Given the description of an element on the screen output the (x, y) to click on. 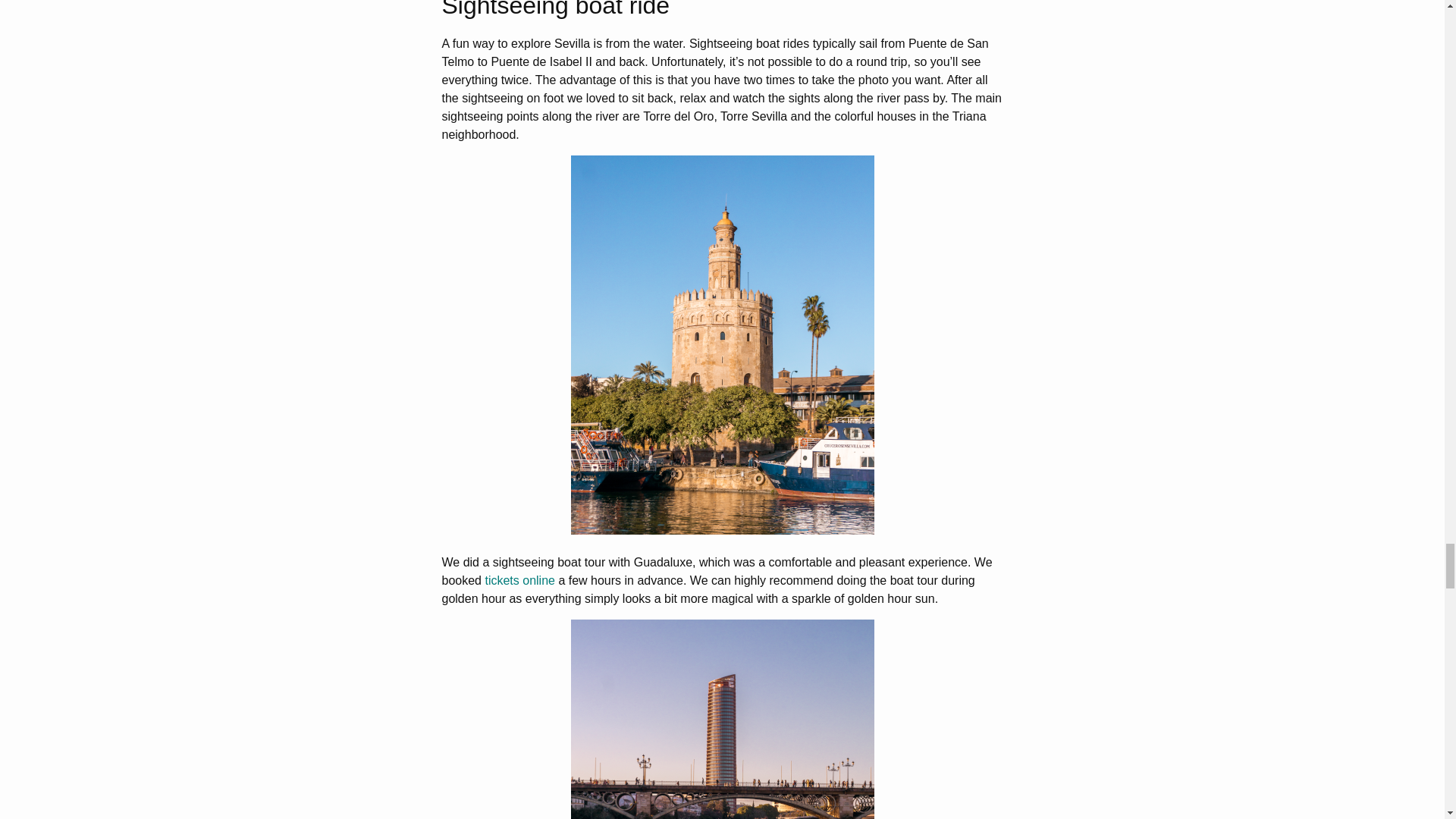
tickets online (519, 580)
